Given the description of an element on the screen output the (x, y) to click on. 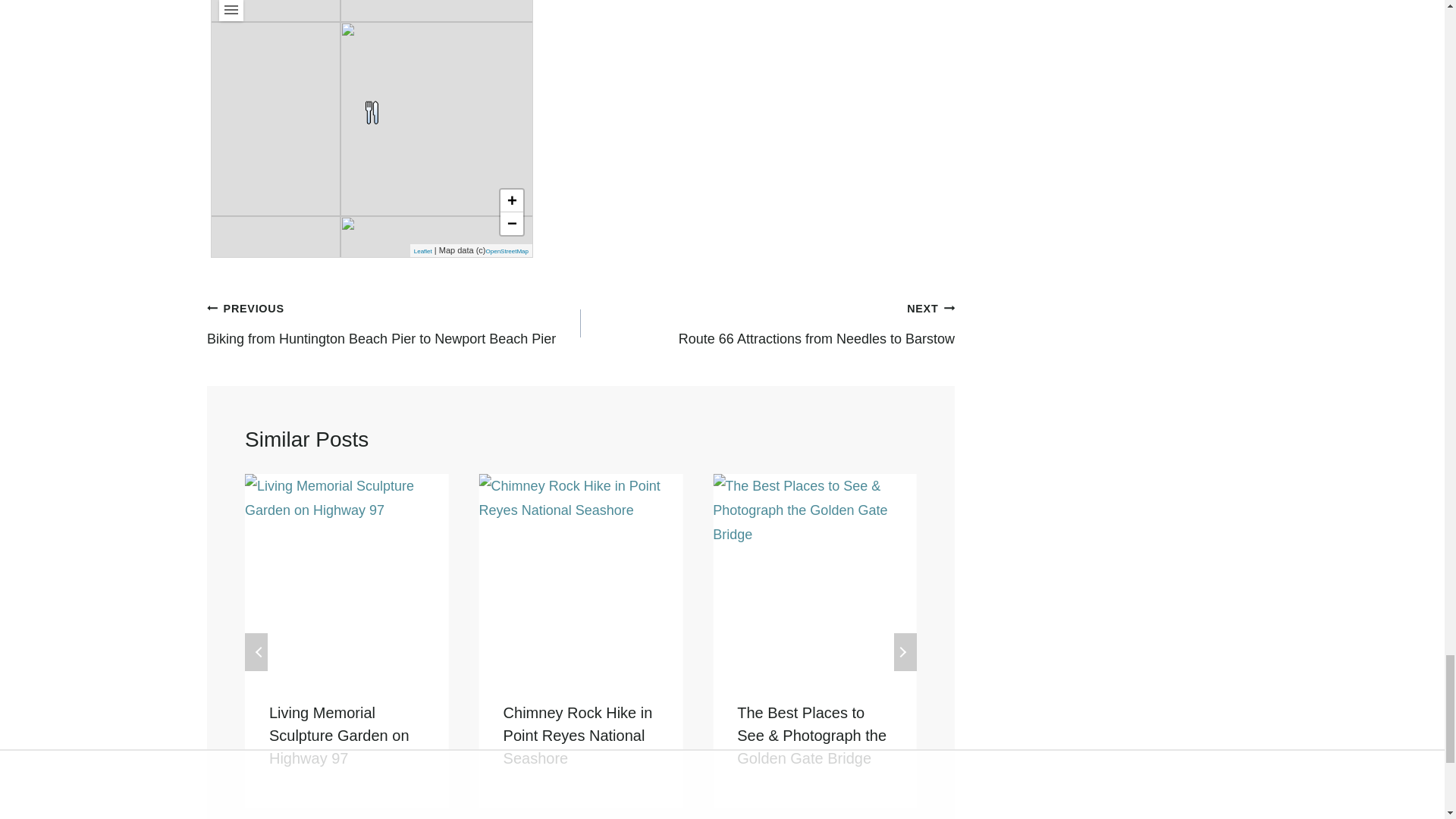
A JS library for interactive maps (422, 251)
Fox and Goose (371, 111)
Menu (231, 10)
